Given the description of an element on the screen output the (x, y) to click on. 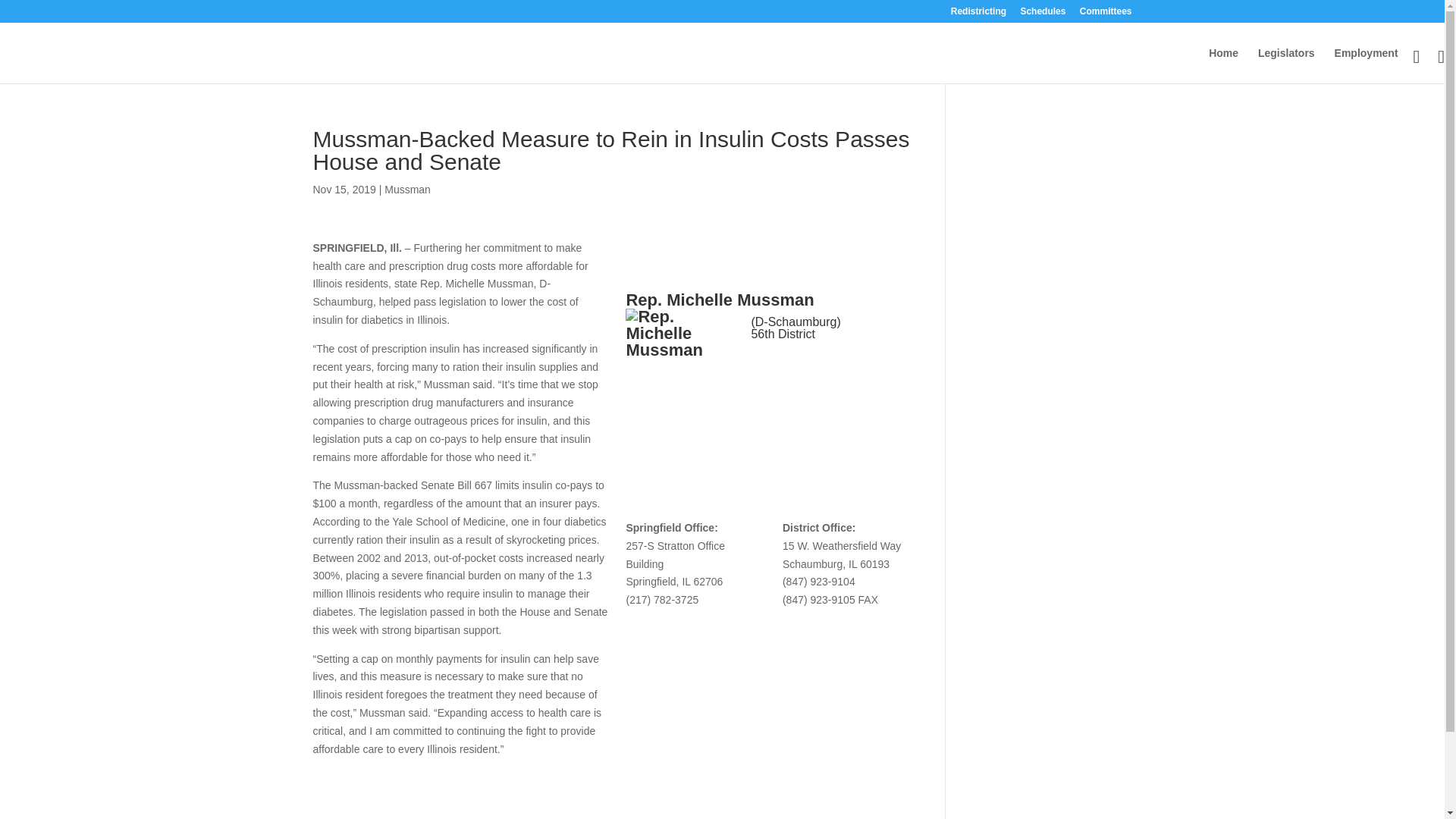
Schedules (1042, 14)
Committees (1106, 14)
Legislators (1285, 65)
Redistricting (978, 14)
Employment (1366, 65)
Follow on Facebook (762, 369)
Mussman (407, 189)
